Given the description of an element on the screen output the (x, y) to click on. 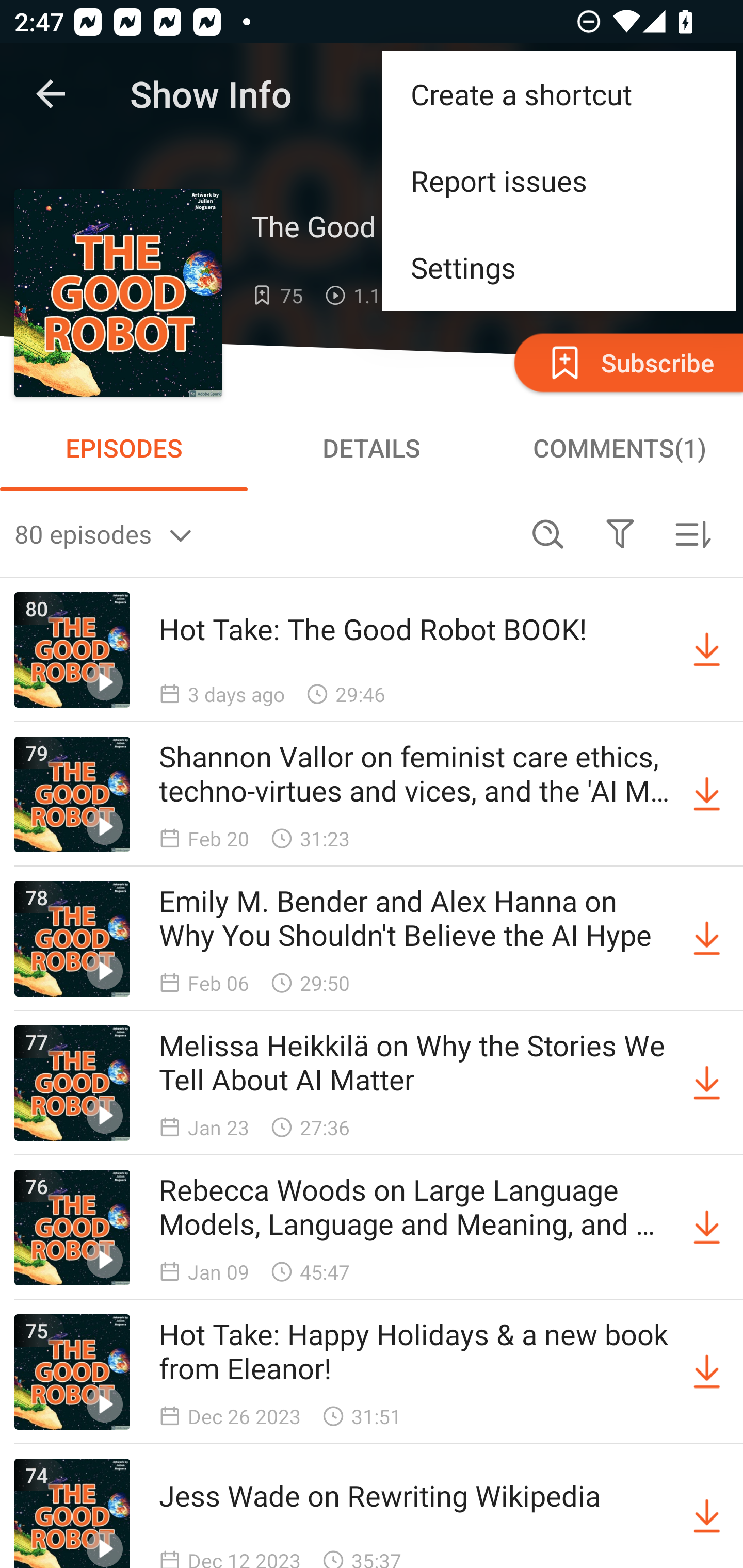
Create a shortcut (558, 93)
Report issues (558, 180)
Settings (558, 267)
